Given the description of an element on the screen output the (x, y) to click on. 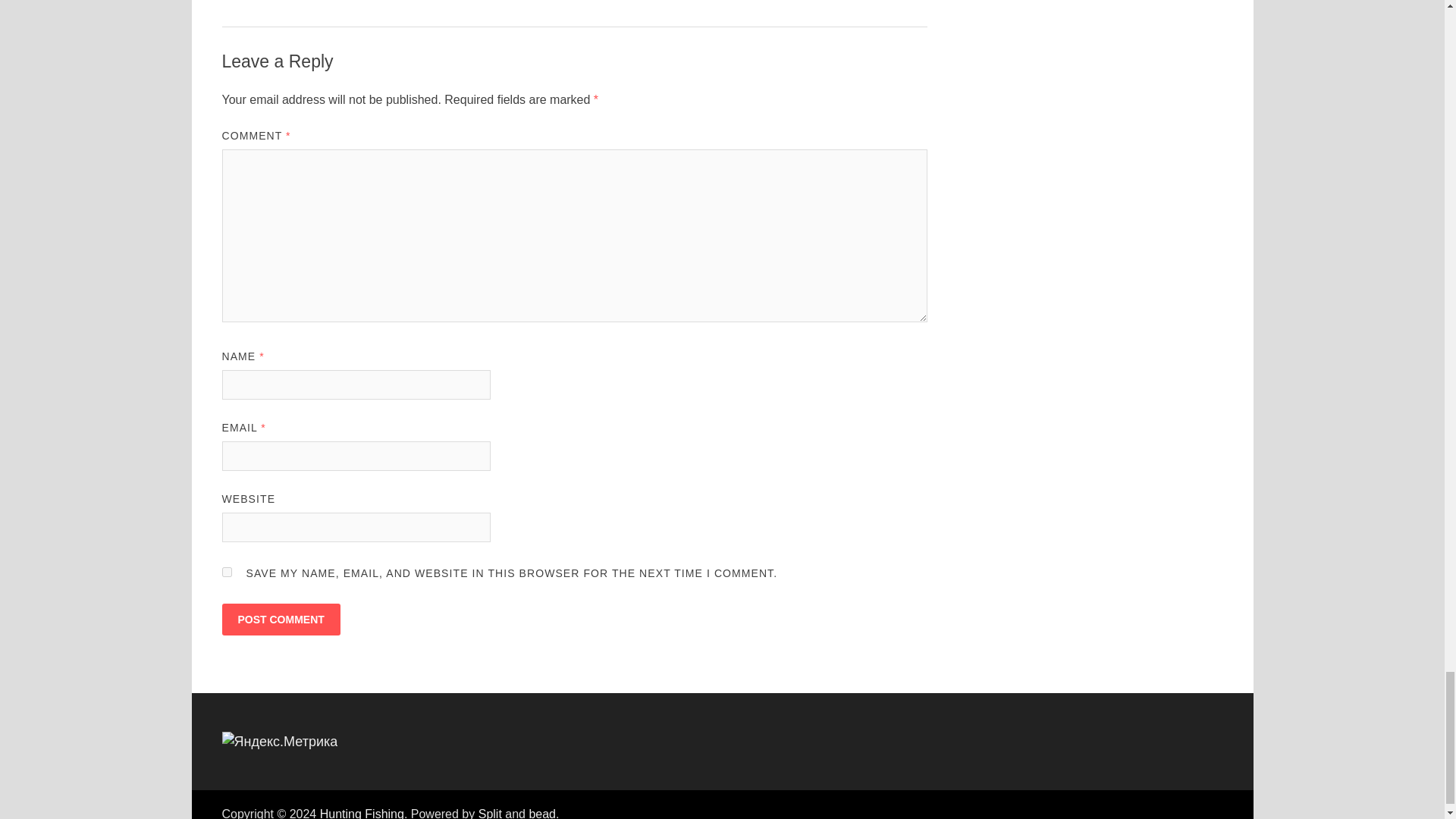
Hunting Fishing (362, 813)
Post Comment (280, 619)
Split (490, 813)
yes (226, 572)
bead (542, 813)
Post Comment (280, 619)
